Given the description of an element on the screen output the (x, y) to click on. 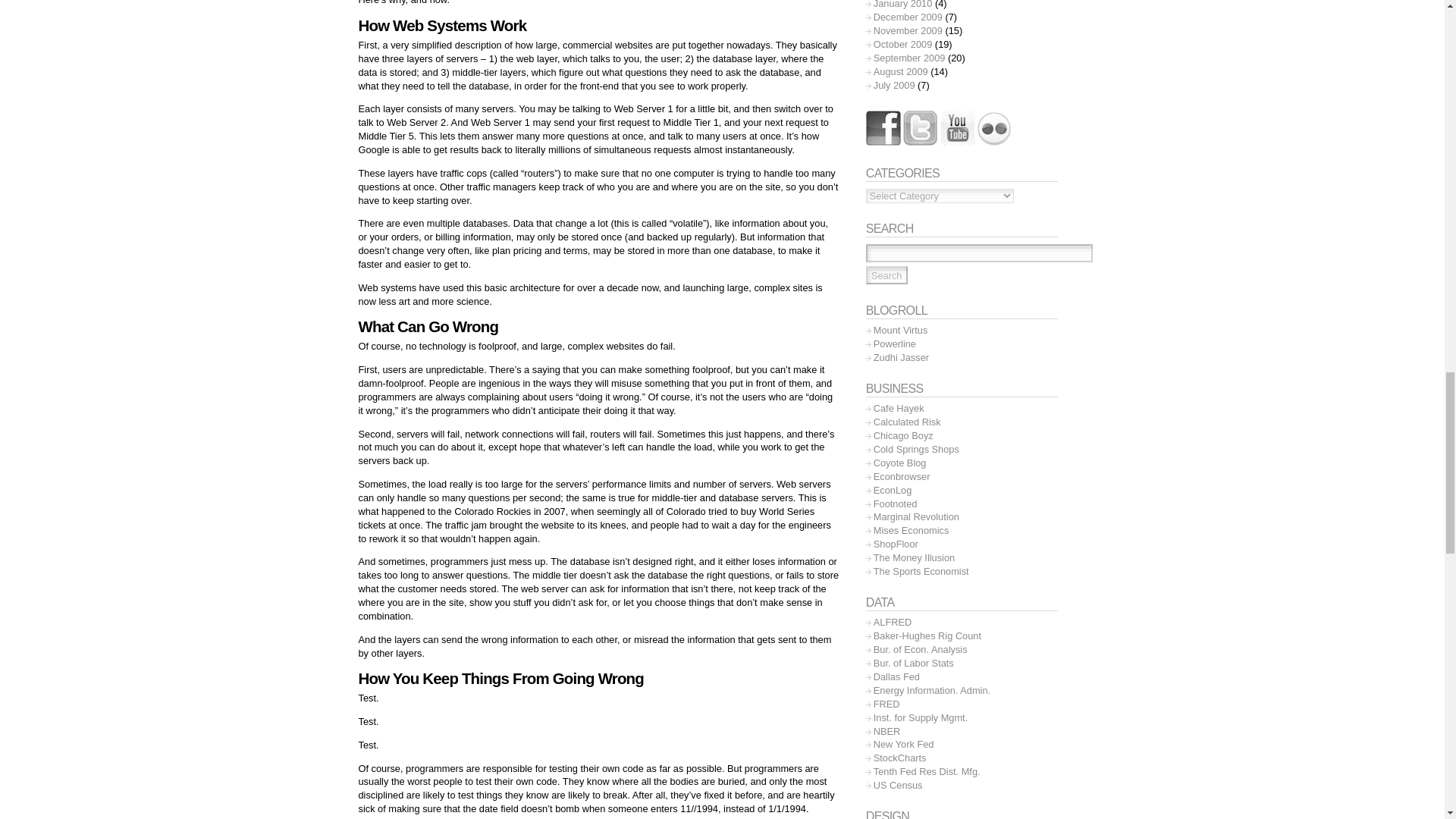
American Islamic Forum for Democracy (900, 357)
Search (886, 275)
Search (886, 275)
